Given the description of an element on the screen output the (x, y) to click on. 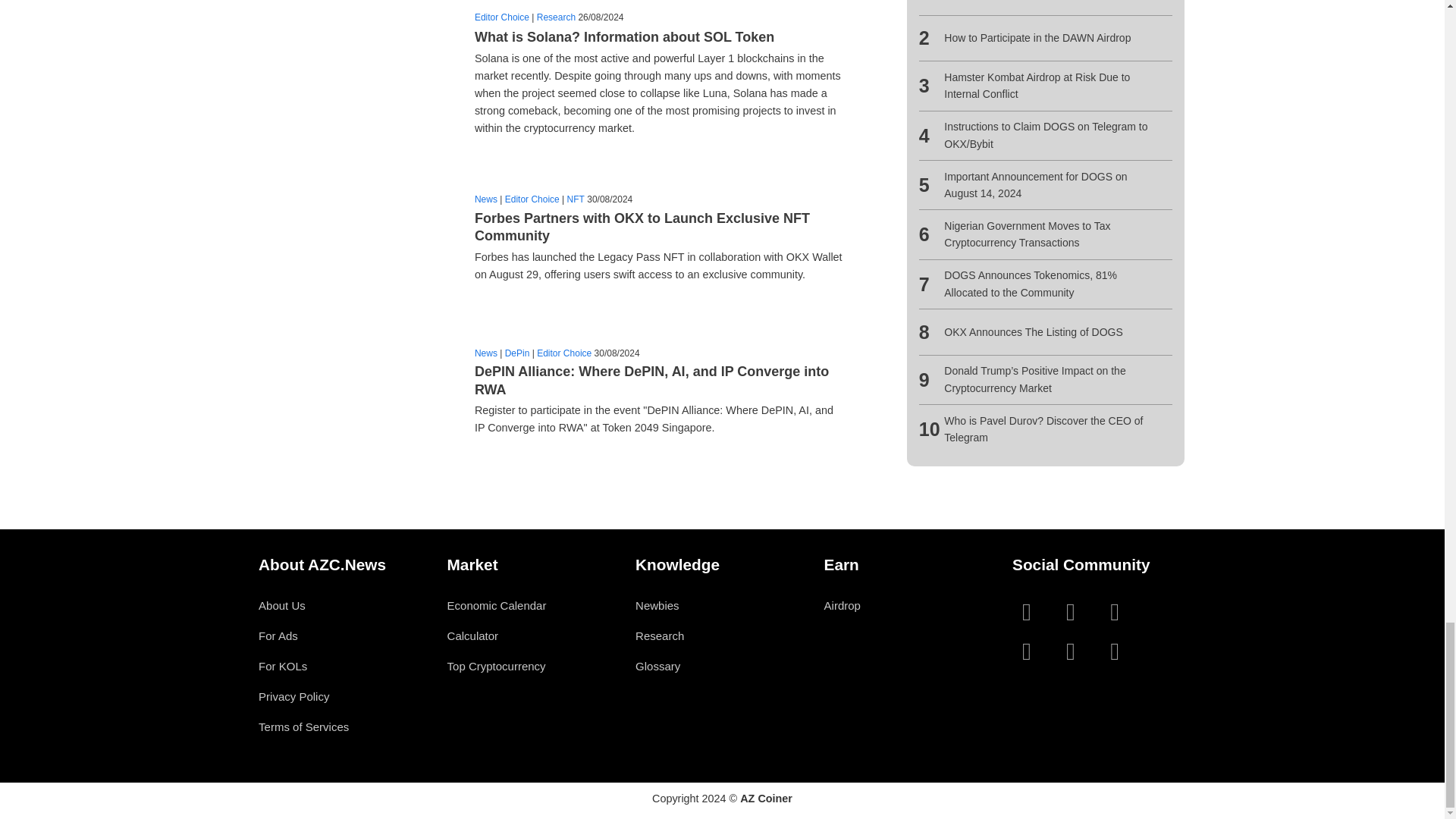
Forbes Partners with OKX to Launch Exclusive NFT Community 7 (358, 241)
What is Solana? Information about SOL Token 6 (358, 77)
DePIN Alliance: Where DePIN, AI, and IP Converge into RWA 8 (358, 395)
